Given the description of an element on the screen output the (x, y) to click on. 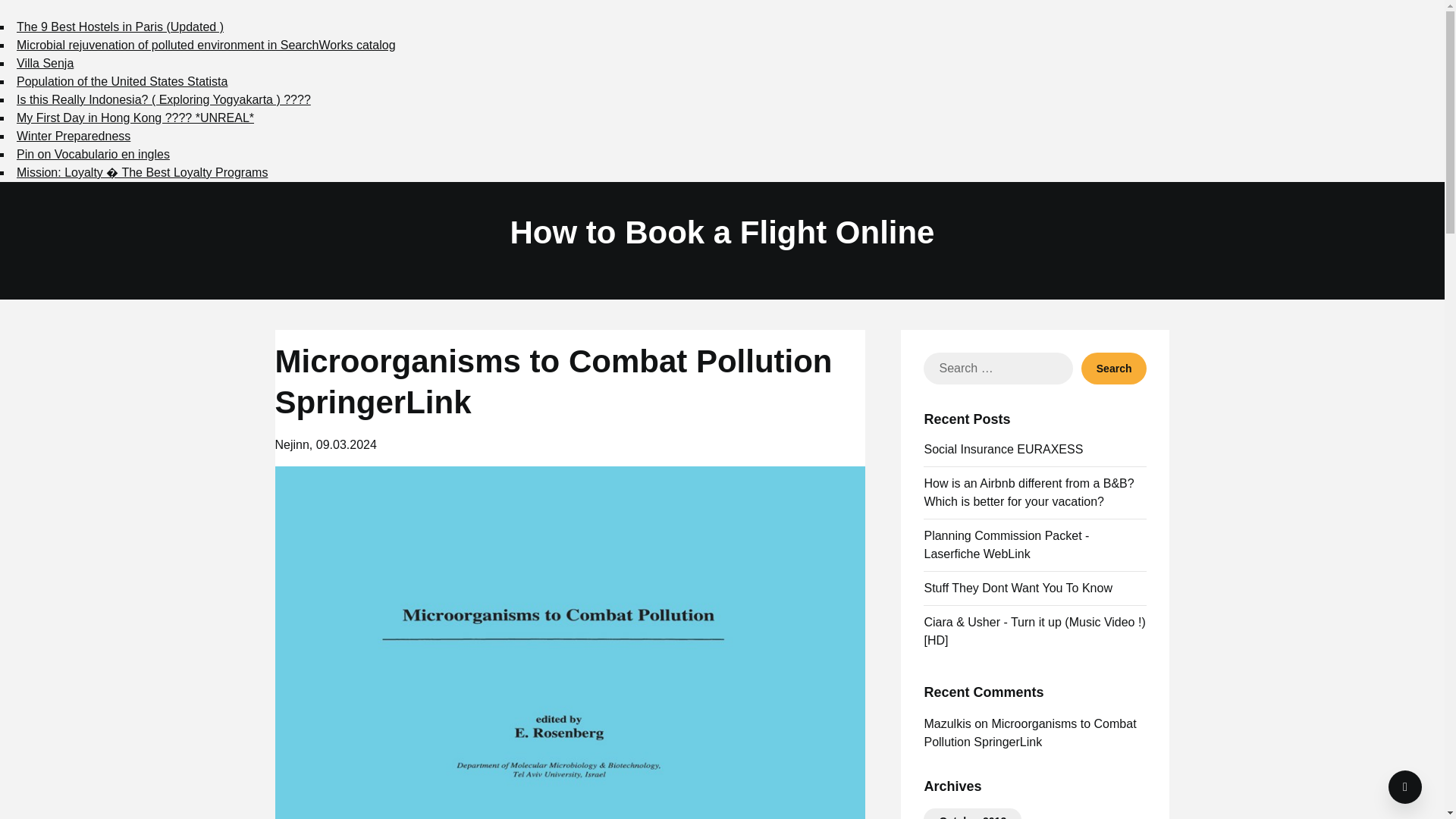
To Top (1405, 786)
Stuff They Dont Want You To Know (1017, 587)
Planning Commission Packet - Laserfiche WebLink (1006, 544)
Winter Preparedness (73, 135)
Search (1114, 368)
Population of the United States Statista (121, 81)
Search (1114, 368)
October 2012 (972, 816)
